Given the description of an element on the screen output the (x, y) to click on. 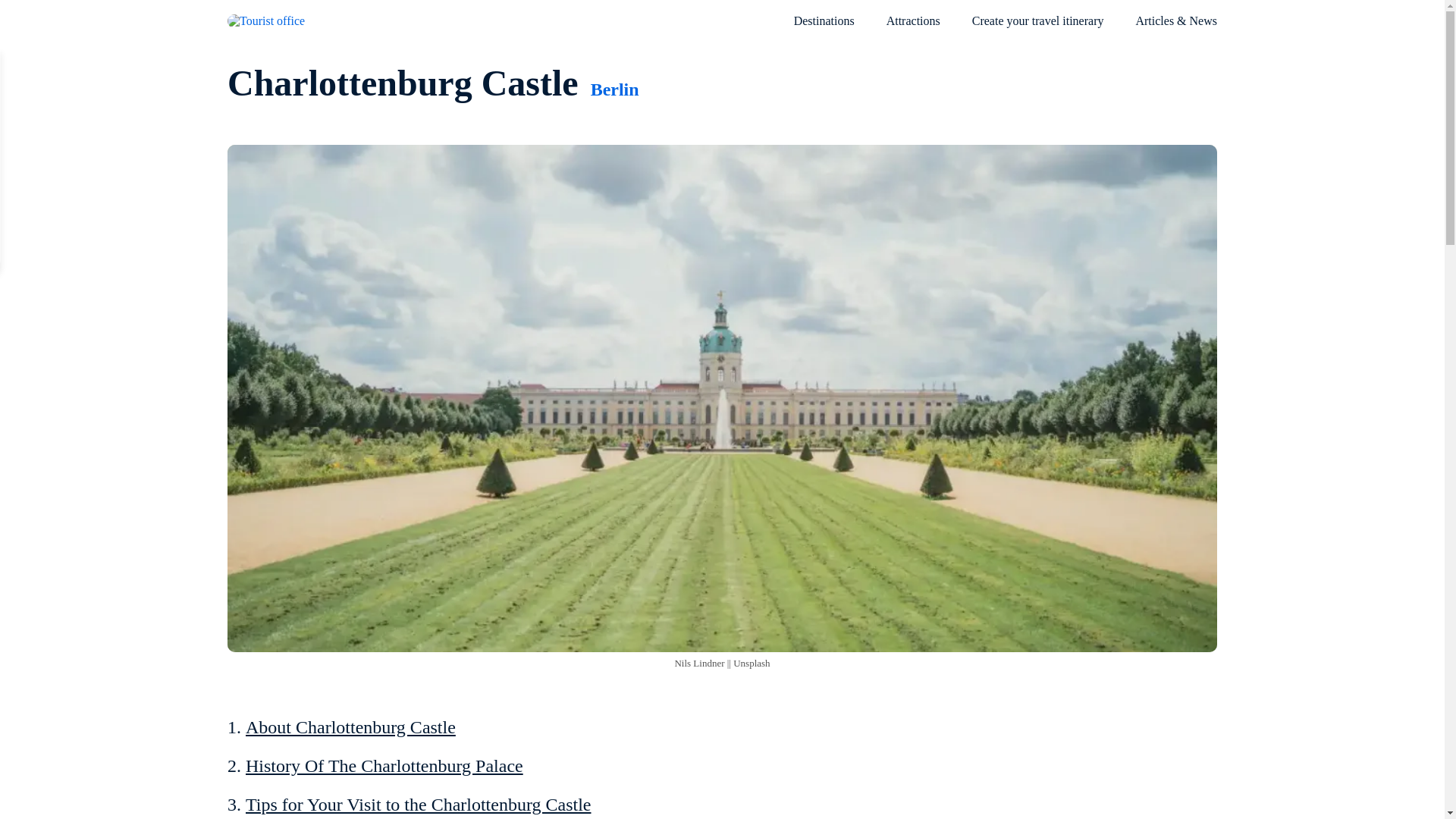
Attractions (913, 28)
Destinations (823, 28)
Create your travel itinerary (1037, 20)
